Given the description of an element on the screen output the (x, y) to click on. 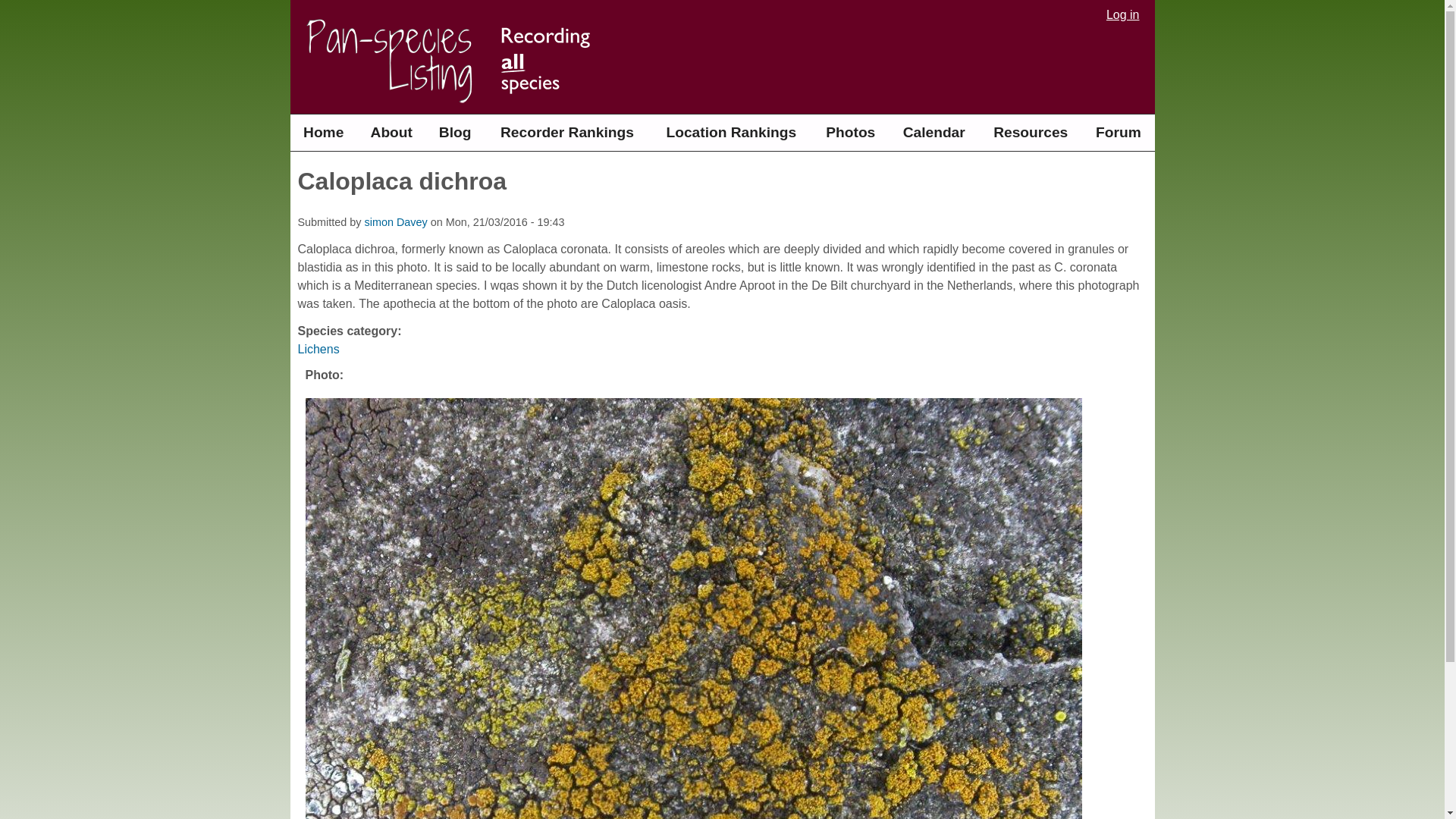
Forum (1117, 132)
Photos (850, 132)
simon Davey (395, 222)
About (391, 132)
Log in (1123, 15)
Home (322, 132)
Resources (1029, 132)
Find out about the Pan-species Listing movement (391, 132)
Lichens (318, 349)
